Given the description of an element on the screen output the (x, y) to click on. 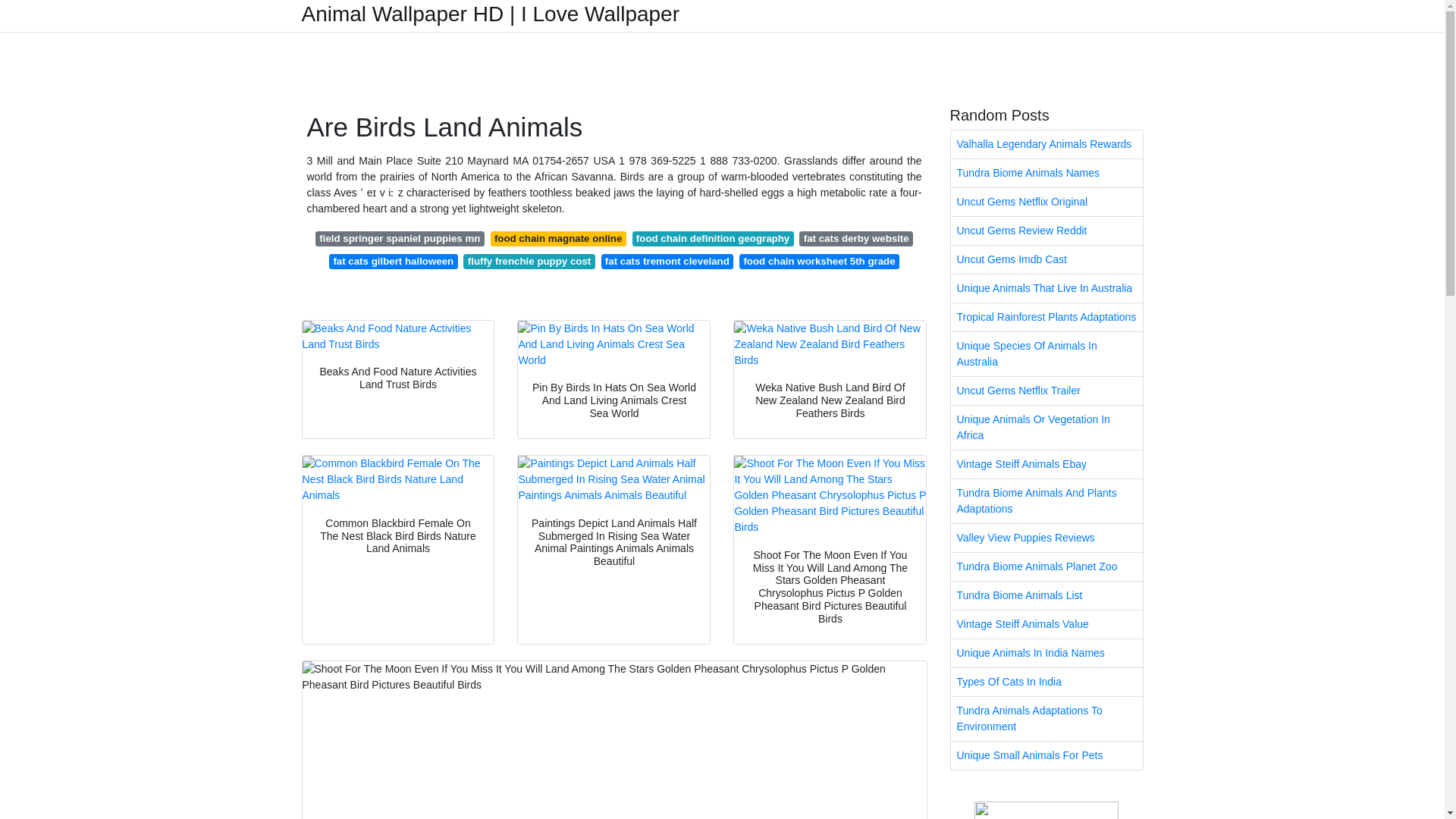
Valhalla Legendary Animals Rewards (1046, 144)
Uncut Gems Imdb Cast (1046, 259)
Tundra Biome Animals Names (1046, 172)
field springer spaniel puppies mn (399, 238)
Uncut Gems Netflix Original (1046, 202)
food chain magnate online (558, 238)
fat cats gilbert halloween (393, 261)
food chain definition geography (712, 238)
food chain worksheet 5th grade (819, 261)
Unique Animals Or Vegetation In Africa (1046, 427)
